Given the description of an element on the screen output the (x, y) to click on. 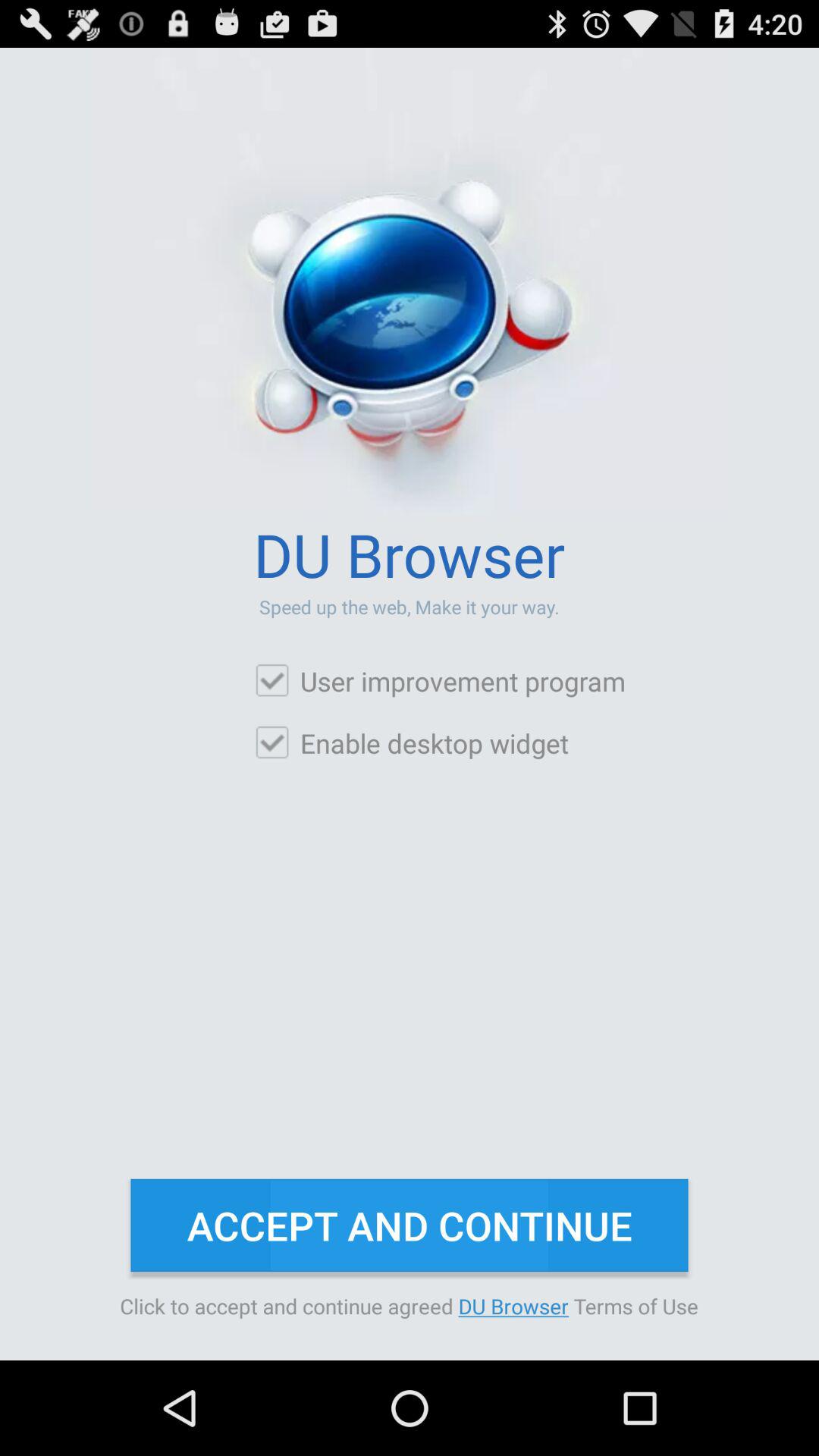
jump until the click to accept item (409, 1305)
